Given the description of an element on the screen output the (x, y) to click on. 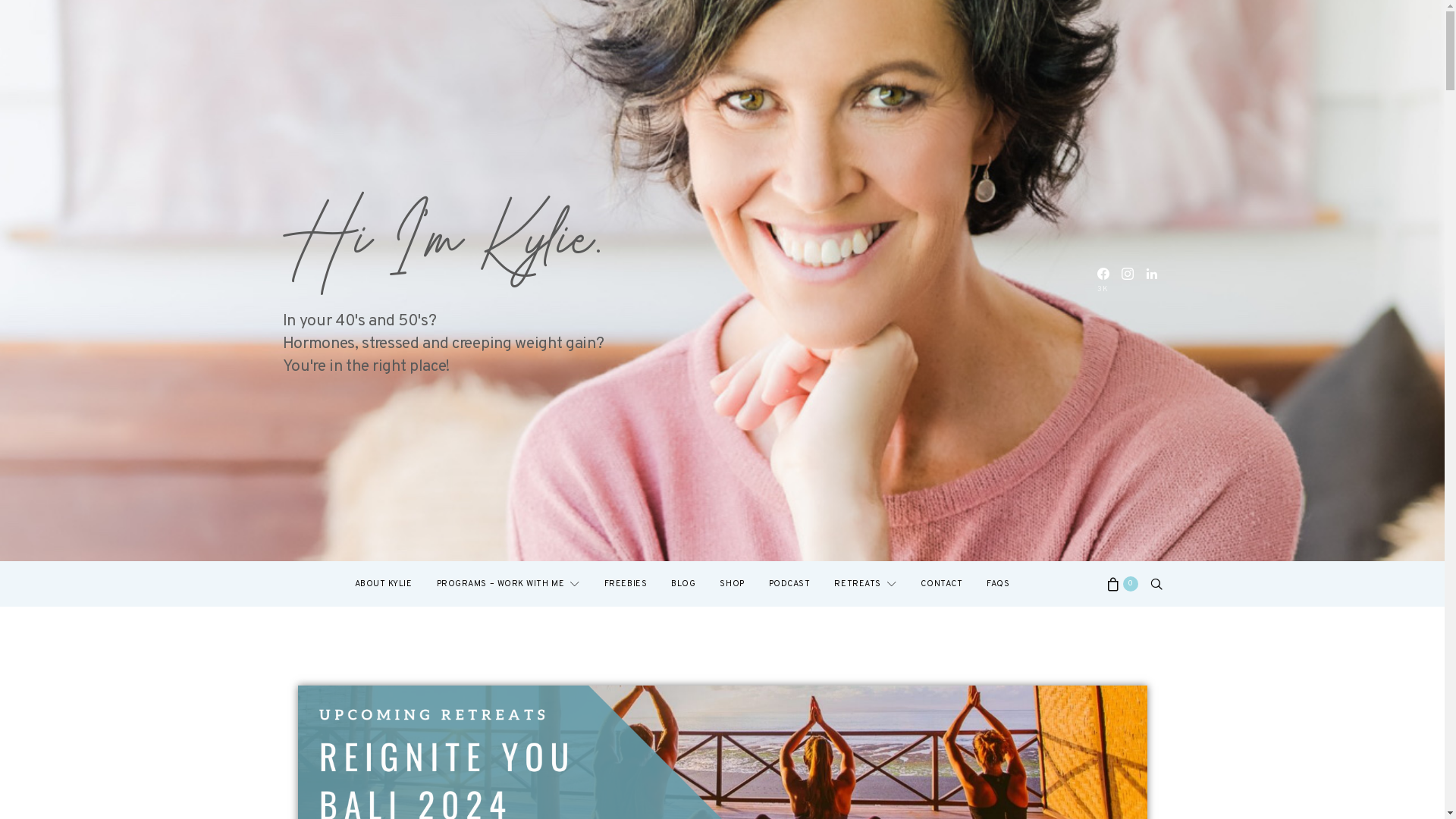
3K Element type: text (1102, 280)
SHOP Element type: text (731, 583)
ABOUT KYLIE Element type: text (383, 583)
PODCAST Element type: text (789, 583)
0 Element type: text (1122, 583)
FREEBIES Element type: text (625, 583)
RETREATS Element type: text (865, 583)
CONTACT Element type: text (941, 583)
BLOG Element type: text (683, 583)
FAQS Element type: text (997, 583)
Hi I'm Kylie. Element type: text (441, 240)
